Given the description of an element on the screen output the (x, y) to click on. 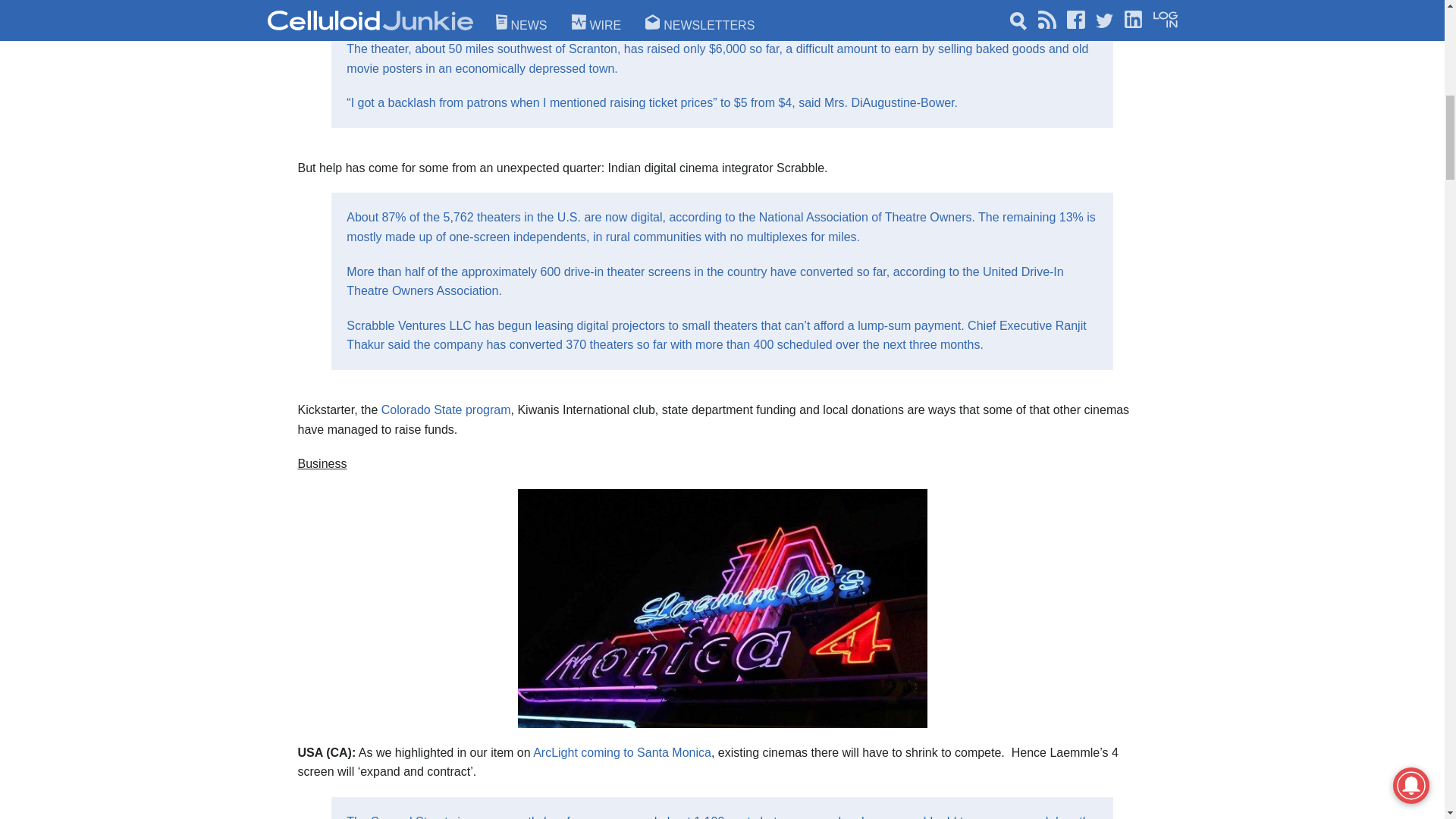
ArcLight to open cinema in Santa Monica (621, 752)
Colorado helps cinemas switch to digital (446, 409)
